Given the description of an element on the screen output the (x, y) to click on. 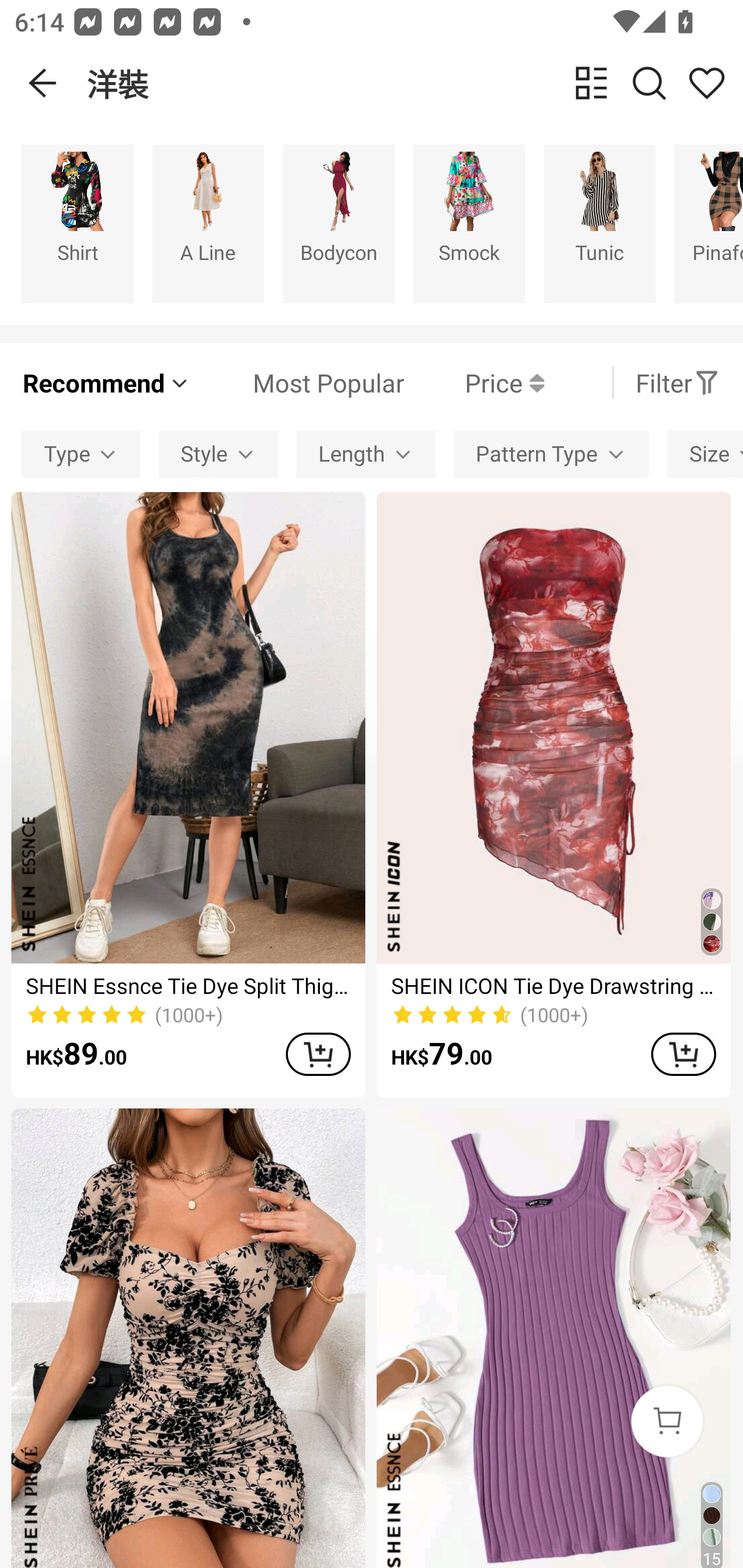
洋裝 change view Search Share (414, 82)
change view (591, 82)
Search (648, 82)
Share (706, 82)
Shirt (77, 223)
A Line (208, 223)
Bodycon (338, 223)
Smock (469, 223)
Tunic (599, 223)
Pinafore (708, 223)
Recommend (106, 382)
Most Popular (297, 382)
Price (474, 382)
Filter (677, 382)
Type (80, 454)
Style (218, 454)
Length (365, 454)
Pattern Type (550, 454)
Size (705, 454)
ADD TO CART (318, 1054)
ADD TO CART (683, 1054)
SHEIN Essnce Rib-knit Bodycon Dress 15 (553, 1338)
